Given the description of an element on the screen output the (x, y) to click on. 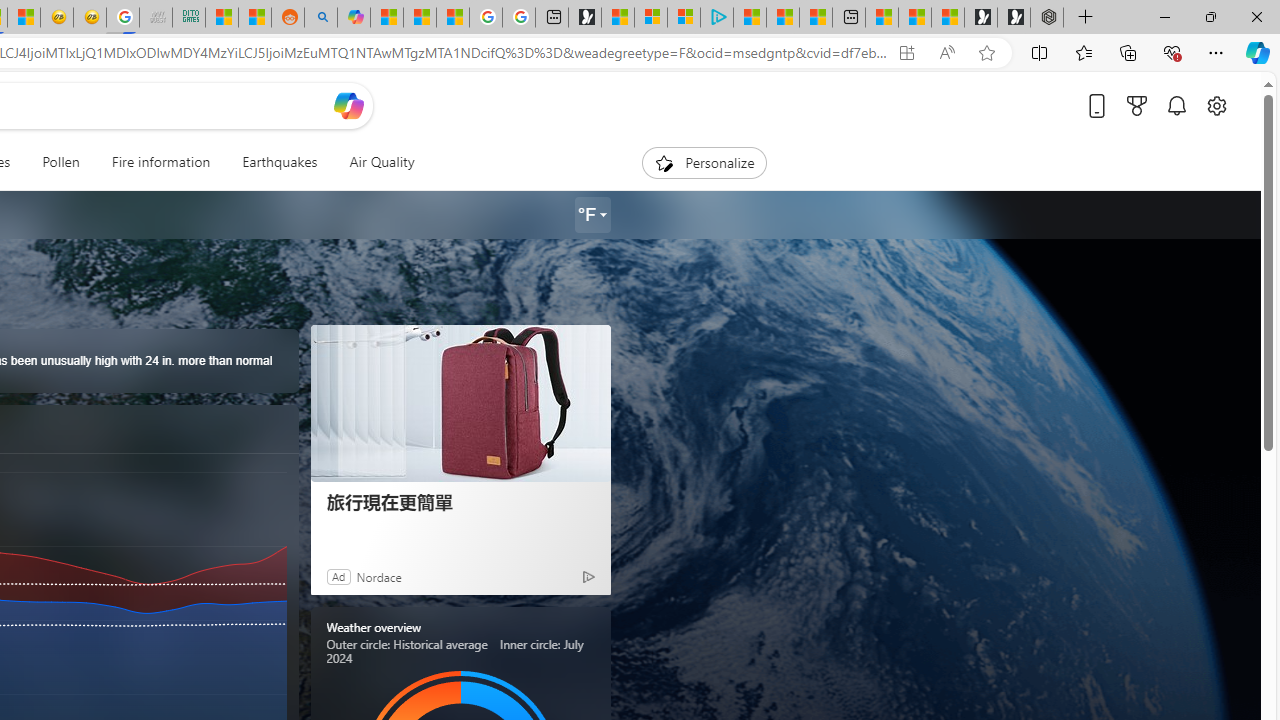
Fire information (161, 162)
Microsoft Copilot in Bing (353, 17)
Weather settings (591, 215)
Air Quality (381, 162)
Fire information (160, 162)
App available. Install Microsoft Start Weather (906, 53)
